Given the description of an element on the screen output the (x, y) to click on. 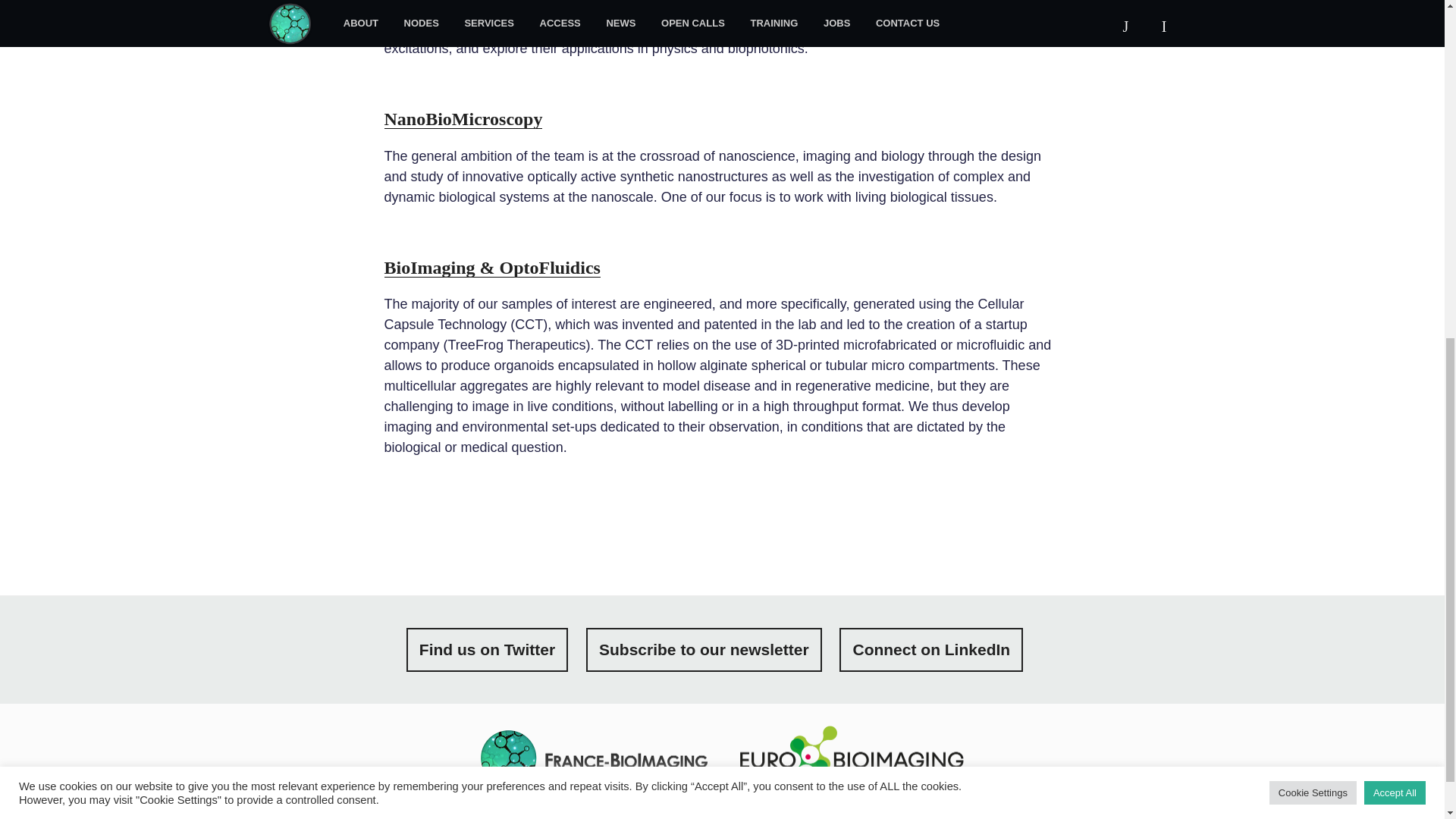
Subscribe to our newsletter (704, 649)
NanoBioMicroscopy (462, 118)
Connect on LinkedIn (931, 649)
Find us on Twitter (486, 649)
